Given the description of an element on the screen output the (x, y) to click on. 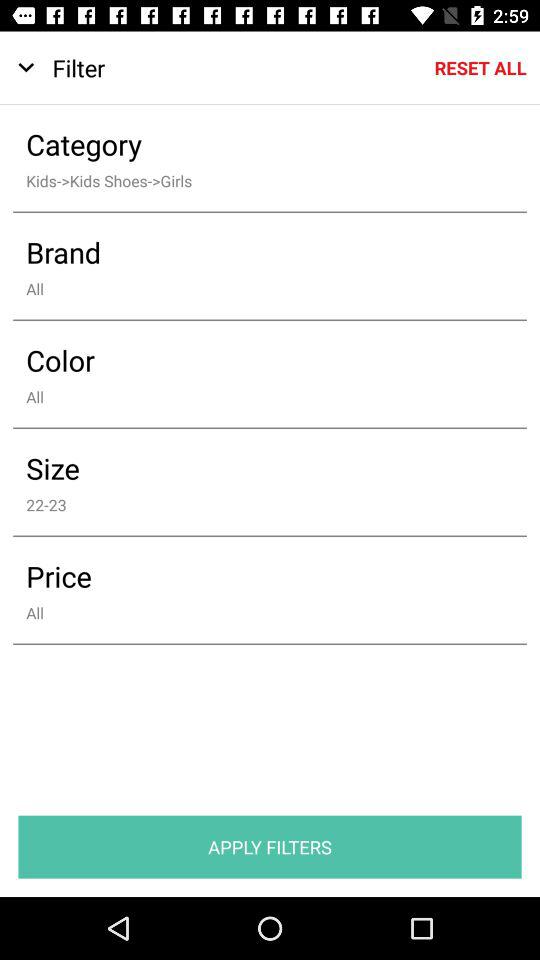
press the icon above brand (256, 180)
